Given the description of an element on the screen output the (x, y) to click on. 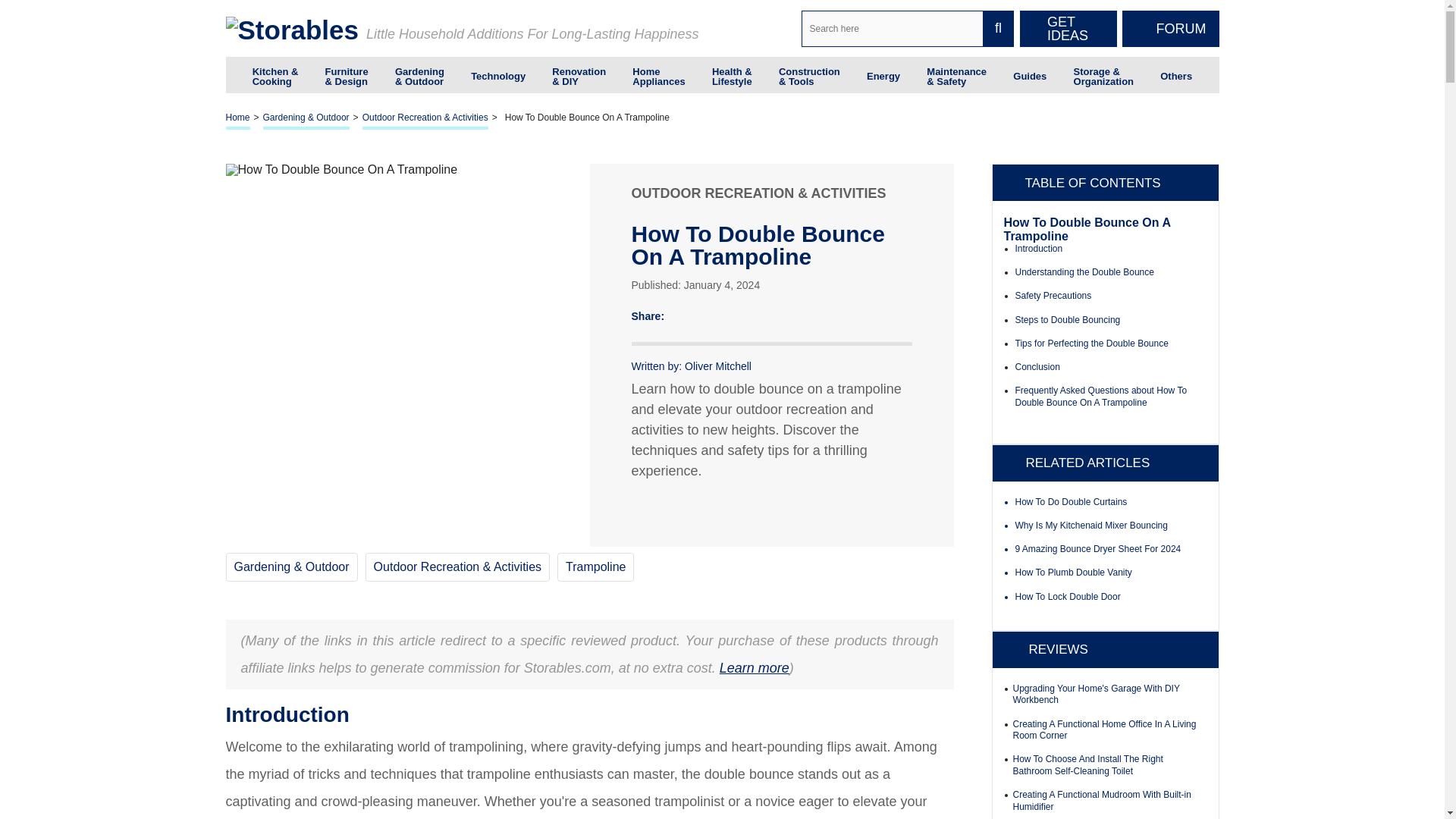
GET IDEAS (1067, 28)
Technology (497, 74)
FORUM (1171, 28)
